Given the description of an element on the screen output the (x, y) to click on. 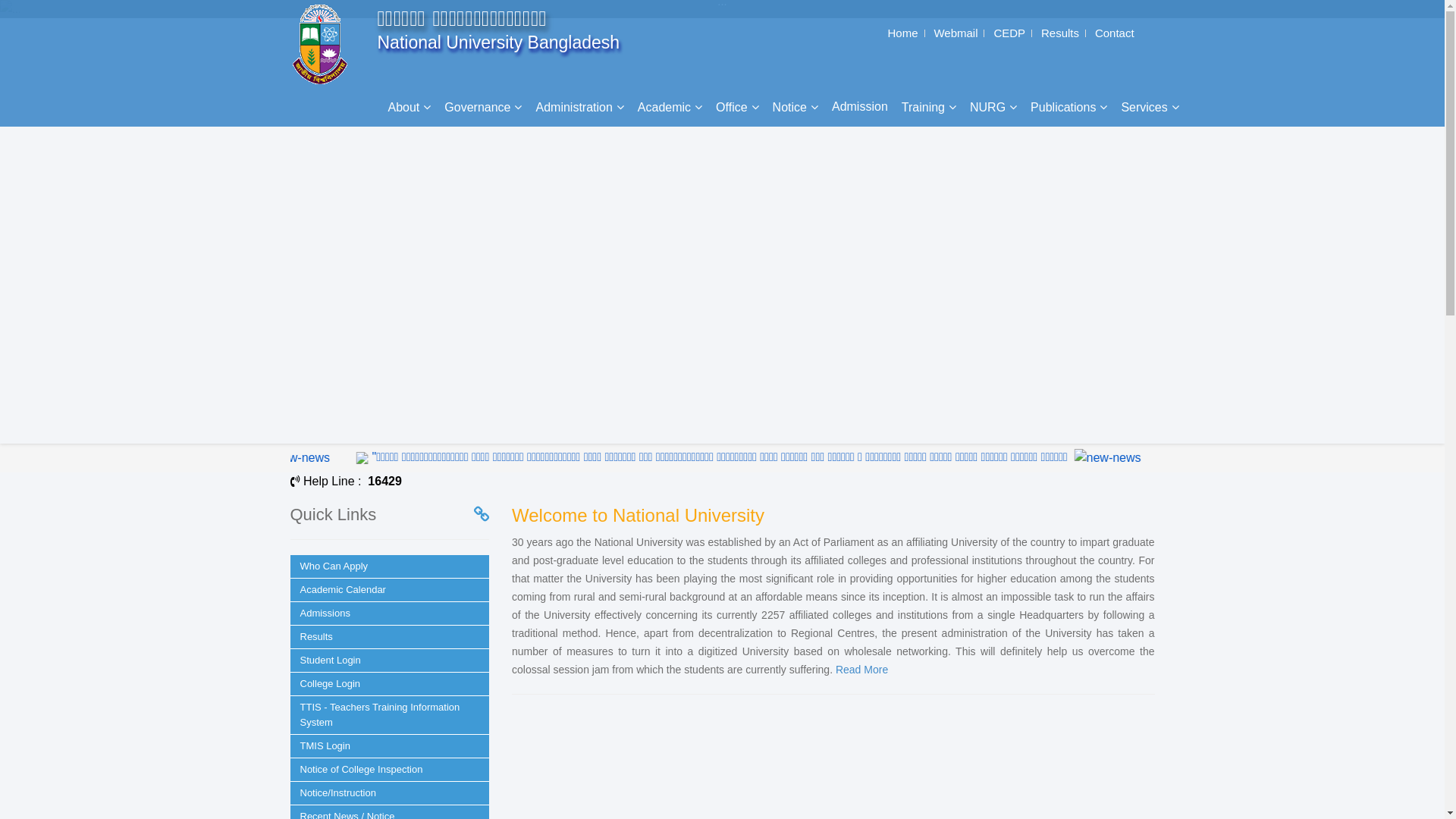
Administration Element type: text (579, 107)
Admission Element type: text (859, 106)
Student Login Element type: text (390, 660)
Notice of College Inspection Element type: text (390, 769)
 ... Element type: hover (722, 9)
Notice Element type: text (795, 107)
Admissions Element type: text (390, 613)
Services Element type: text (1149, 107)
Home Element type: text (902, 32)
CEDP Element type: text (1009, 32)
Notice/Instruction Element type: text (390, 792)
Contact Element type: text (1114, 32)
Results Element type: text (1060, 32)
Academic Calendar Element type: text (390, 589)
About Element type: text (408, 107)
Training Element type: text (928, 107)

   Element type: hover (648, 457)
College Login Element type: text (390, 683)
TMIS Login Element type: text (390, 745)
Read More Element type: text (861, 669)
Who Can Apply Element type: text (390, 566)
Webmail Element type: text (955, 32)
Results Element type: text (390, 636)
Governance Element type: text (482, 107)
National University Bangladesh Element type: hover (322, 44)

   Element type: hover (345, 457)
Academic Element type: text (669, 107)
TTIS - Teachers Training Information System Element type: text (390, 714)
Publications Element type: text (1068, 107)
NURG Element type: text (993, 107)
Office Element type: text (737, 107)
